Given the description of an element on the screen output the (x, y) to click on. 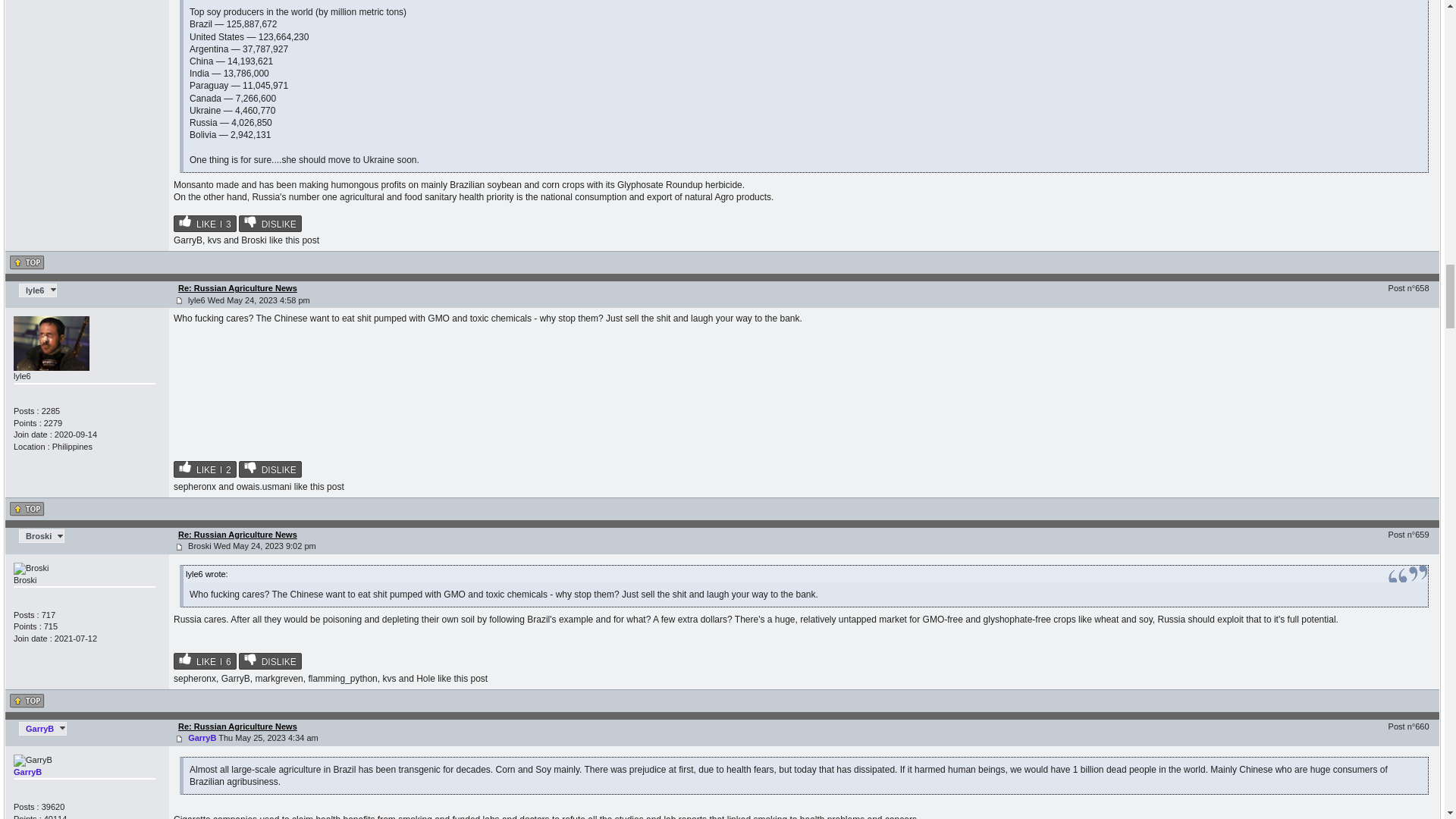
Post (178, 546)
Post (178, 300)
